Given the description of an element on the screen output the (x, y) to click on. 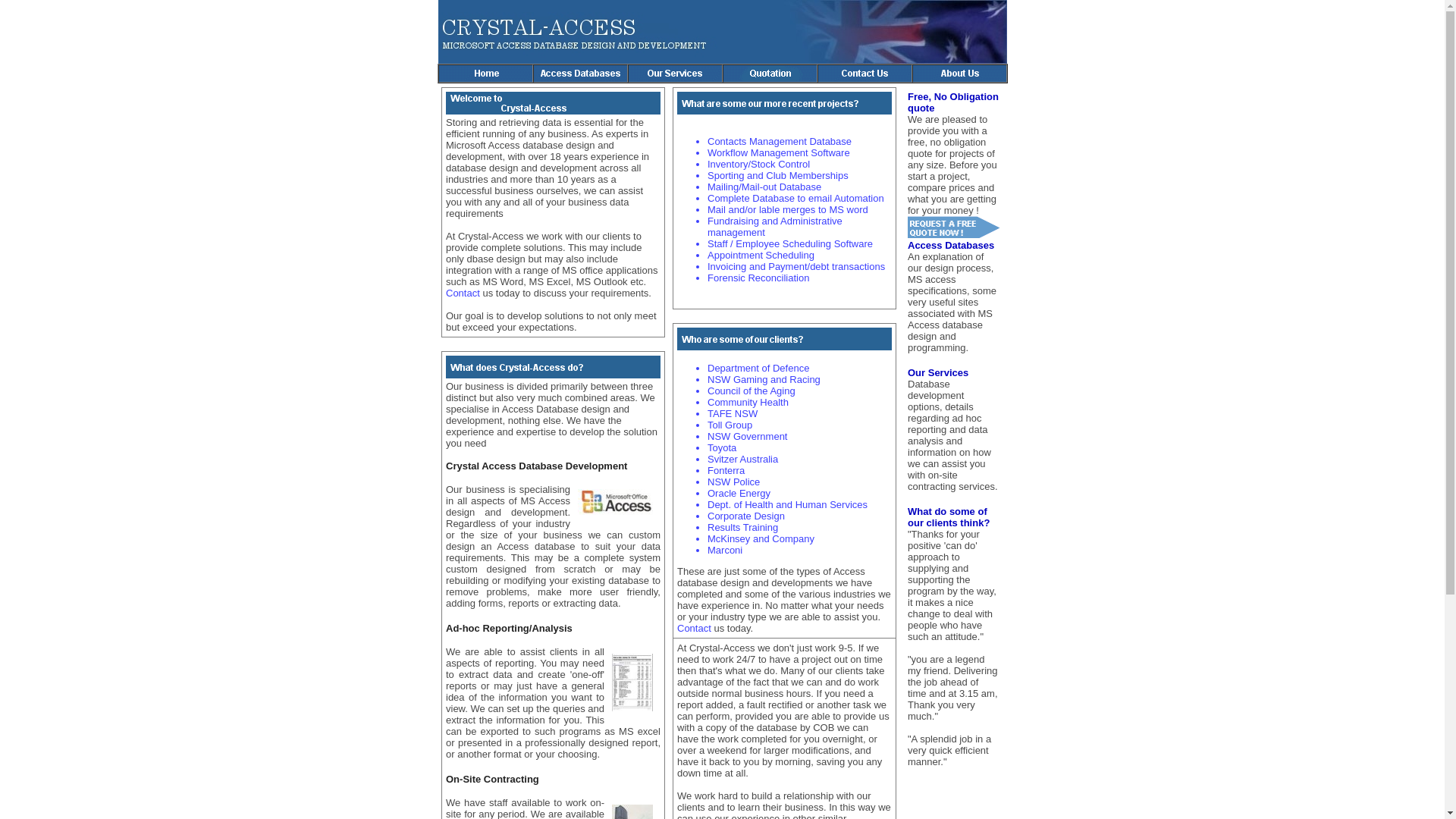
Contact Element type: text (695, 627)
Contact Element type: text (463, 292)
